Given the description of an element on the screen output the (x, y) to click on. 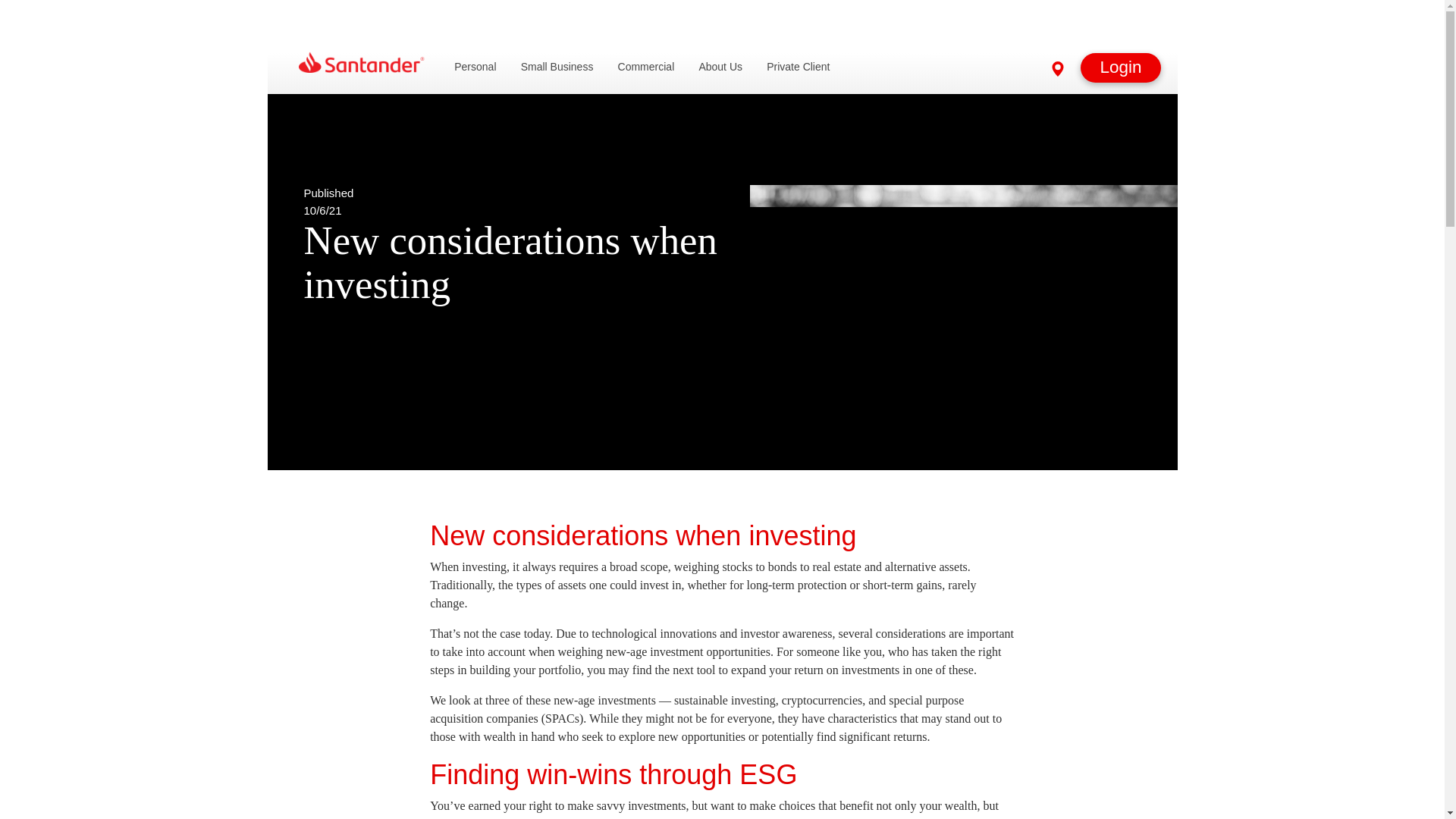
Personal (475, 67)
Login (1120, 67)
Commercial (646, 67)
Small Business (557, 67)
Private Client (798, 67)
About Us (720, 67)
